Given the description of an element on the screen output the (x, y) to click on. 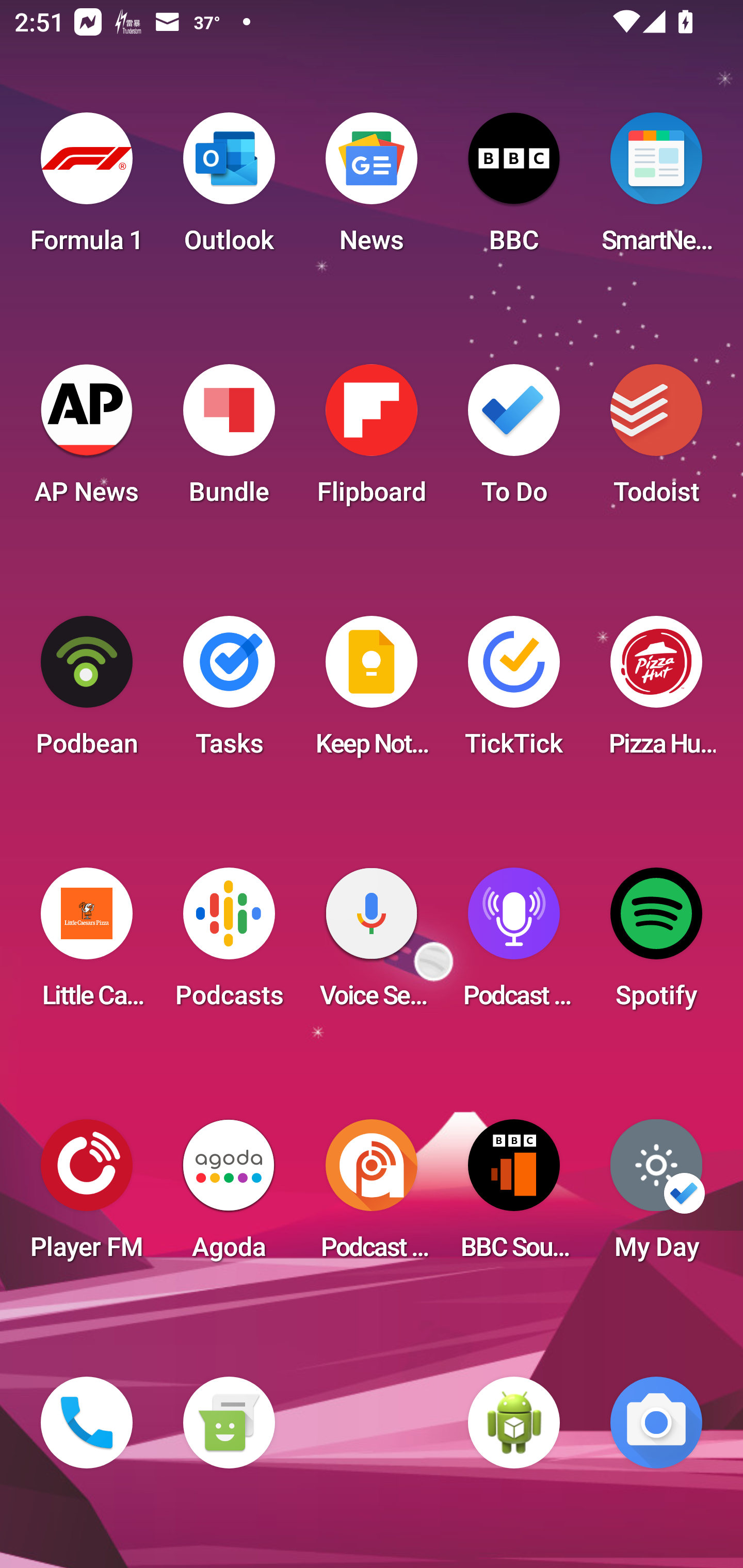
Formula 1 (86, 188)
Outlook (228, 188)
News (371, 188)
BBC (513, 188)
SmartNews (656, 188)
AP News (86, 440)
Bundle (228, 440)
Flipboard (371, 440)
To Do (513, 440)
Todoist (656, 440)
Podbean (86, 692)
Tasks (228, 692)
Keep Notes (371, 692)
TickTick (513, 692)
Pizza Hut HK & Macau (656, 692)
Little Caesars Pizza (86, 943)
Podcasts (228, 943)
Voice Search (371, 943)
Podcast Player (513, 943)
Spotify (656, 943)
Player FM (86, 1195)
Agoda (228, 1195)
Podcast Addict (371, 1195)
BBC Sounds (513, 1195)
My Day (656, 1195)
Phone (86, 1422)
Messaging (228, 1422)
WebView Browser Tester (513, 1422)
Camera (656, 1422)
